Given the description of an element on the screen output the (x, y) to click on. 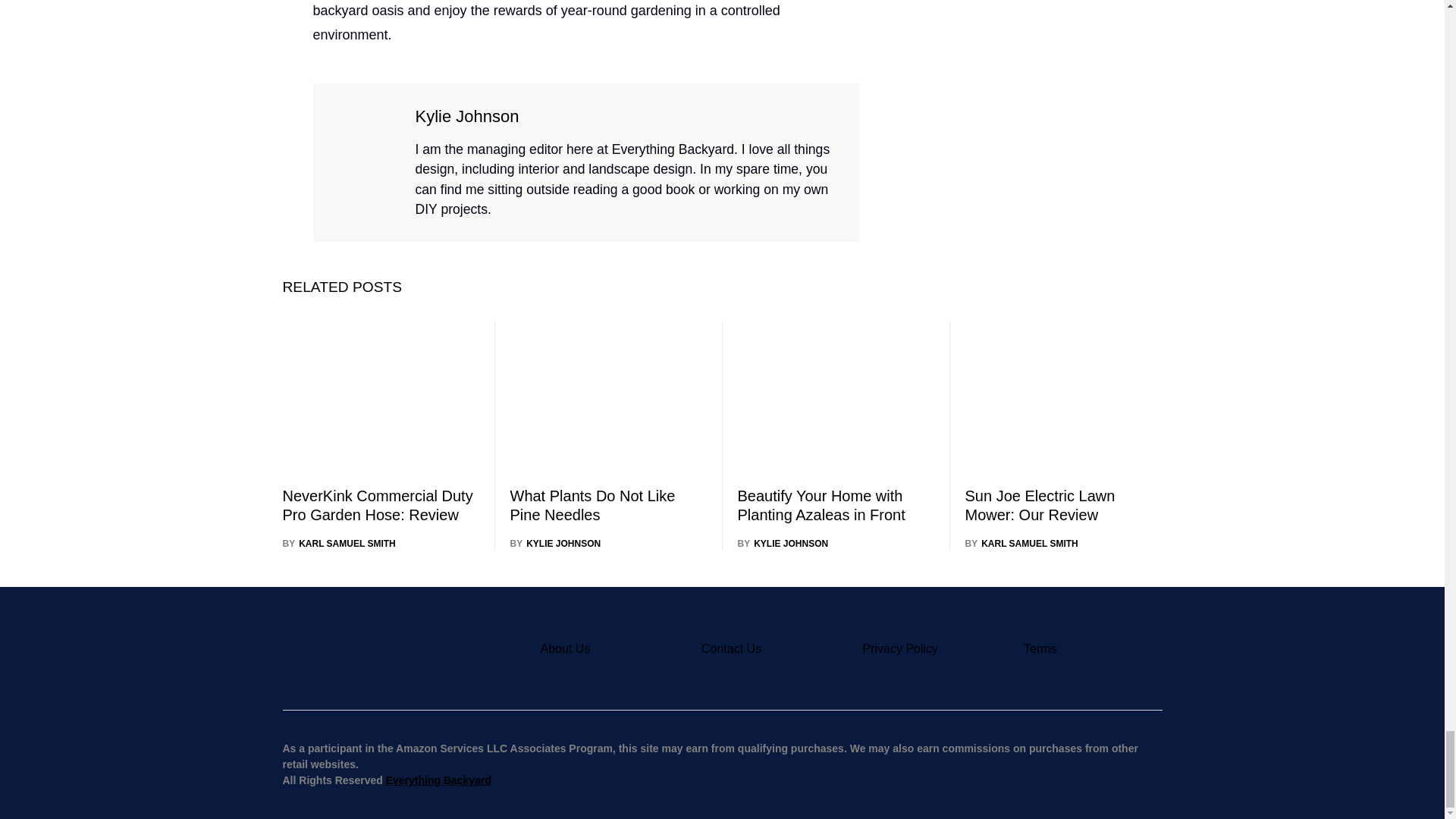
View all posts by Kylie Johnson (782, 543)
View all posts by Karl Samuel Smith (338, 543)
View all posts by Kylie Johnson (554, 543)
View all posts by Karl Samuel Smith (1020, 543)
